Given the description of an element on the screen output the (x, y) to click on. 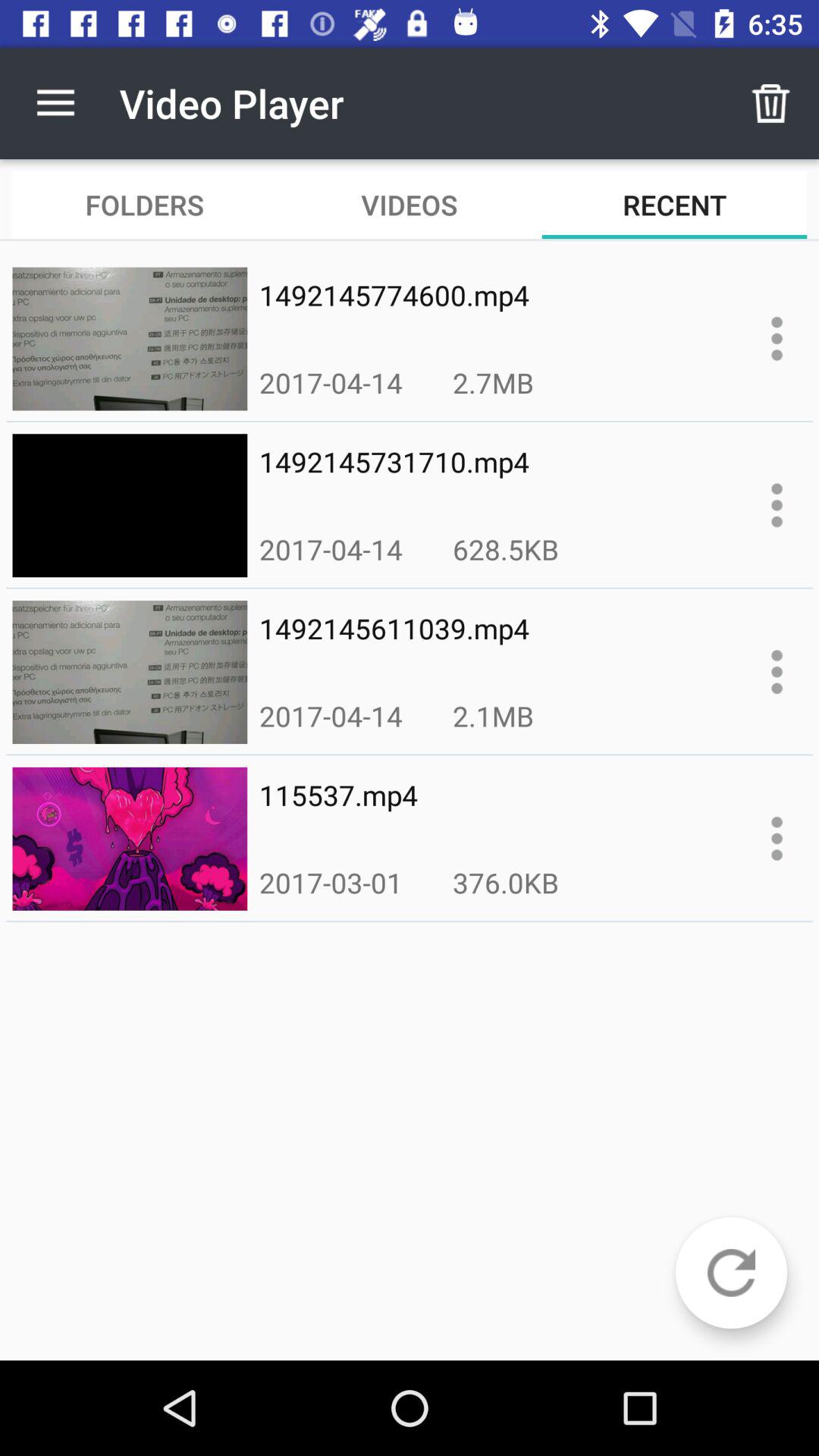
opens up menu to play pause rewind video (776, 671)
